Given the description of an element on the screen output the (x, y) to click on. 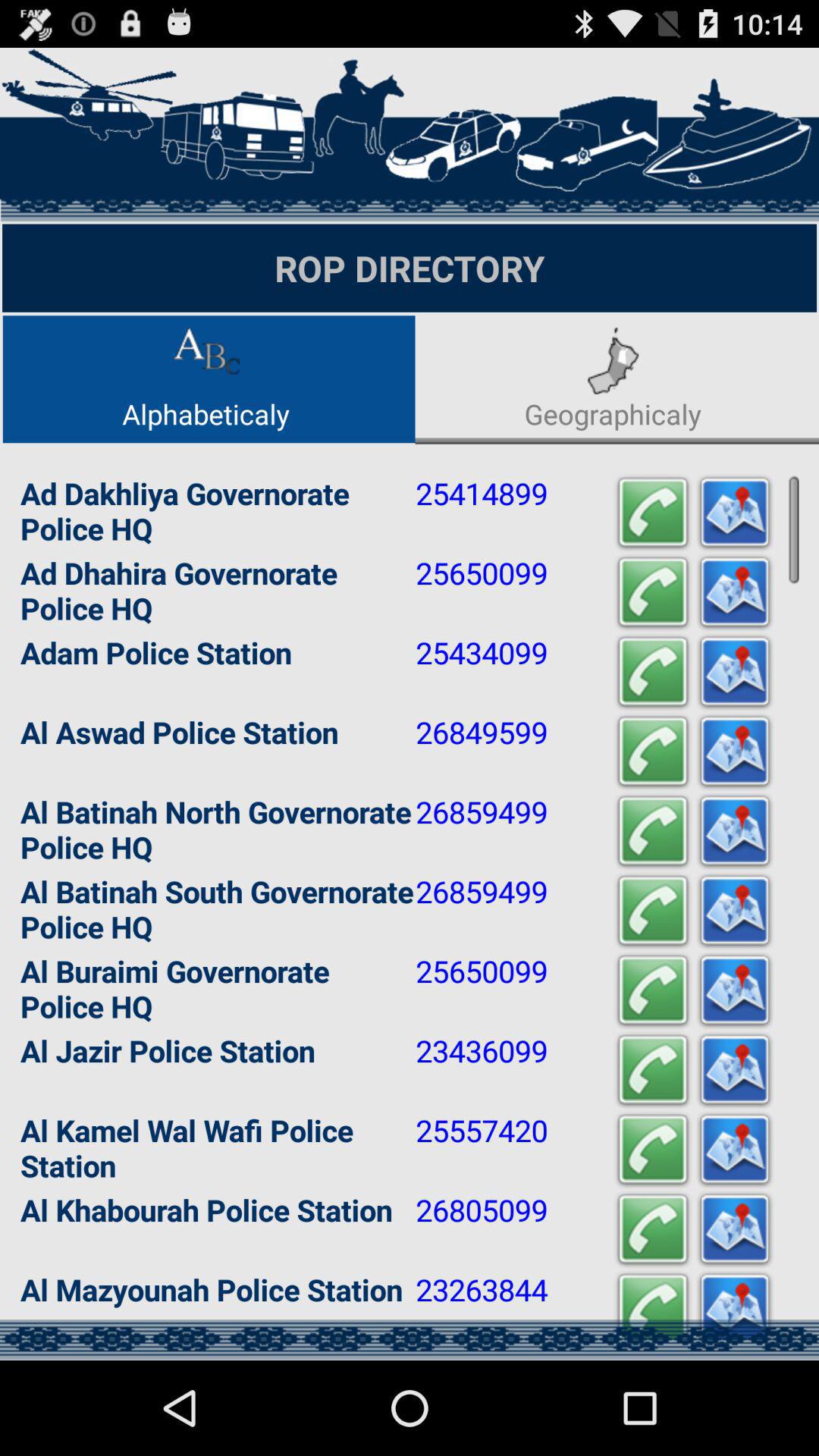
open geographic location (734, 751)
